Given the description of an element on the screen output the (x, y) to click on. 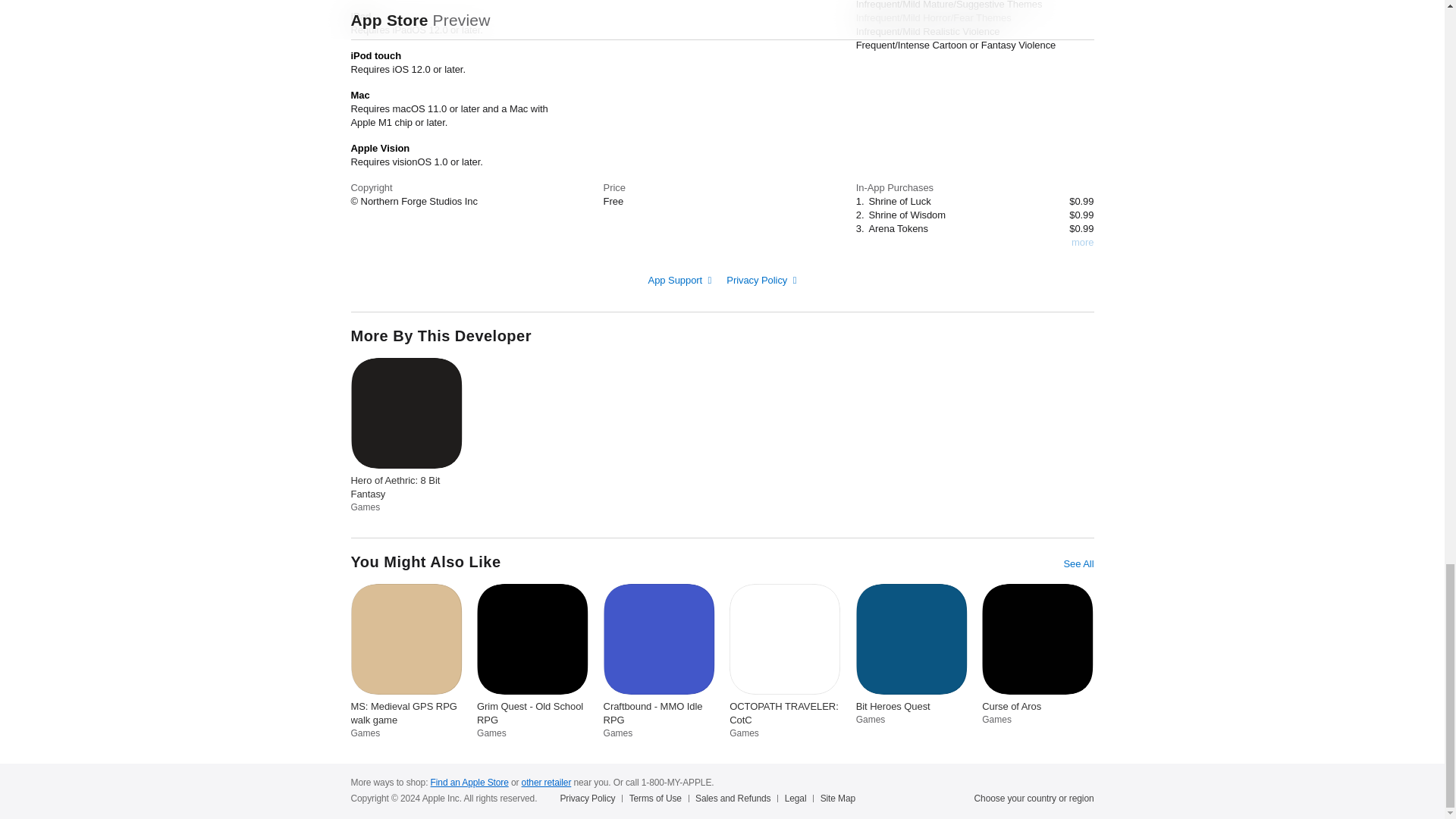
more (1082, 242)
App Support (679, 279)
See All (1077, 563)
Choose your country or region (1034, 798)
Privacy Policy (761, 279)
